Given the description of an element on the screen output the (x, y) to click on. 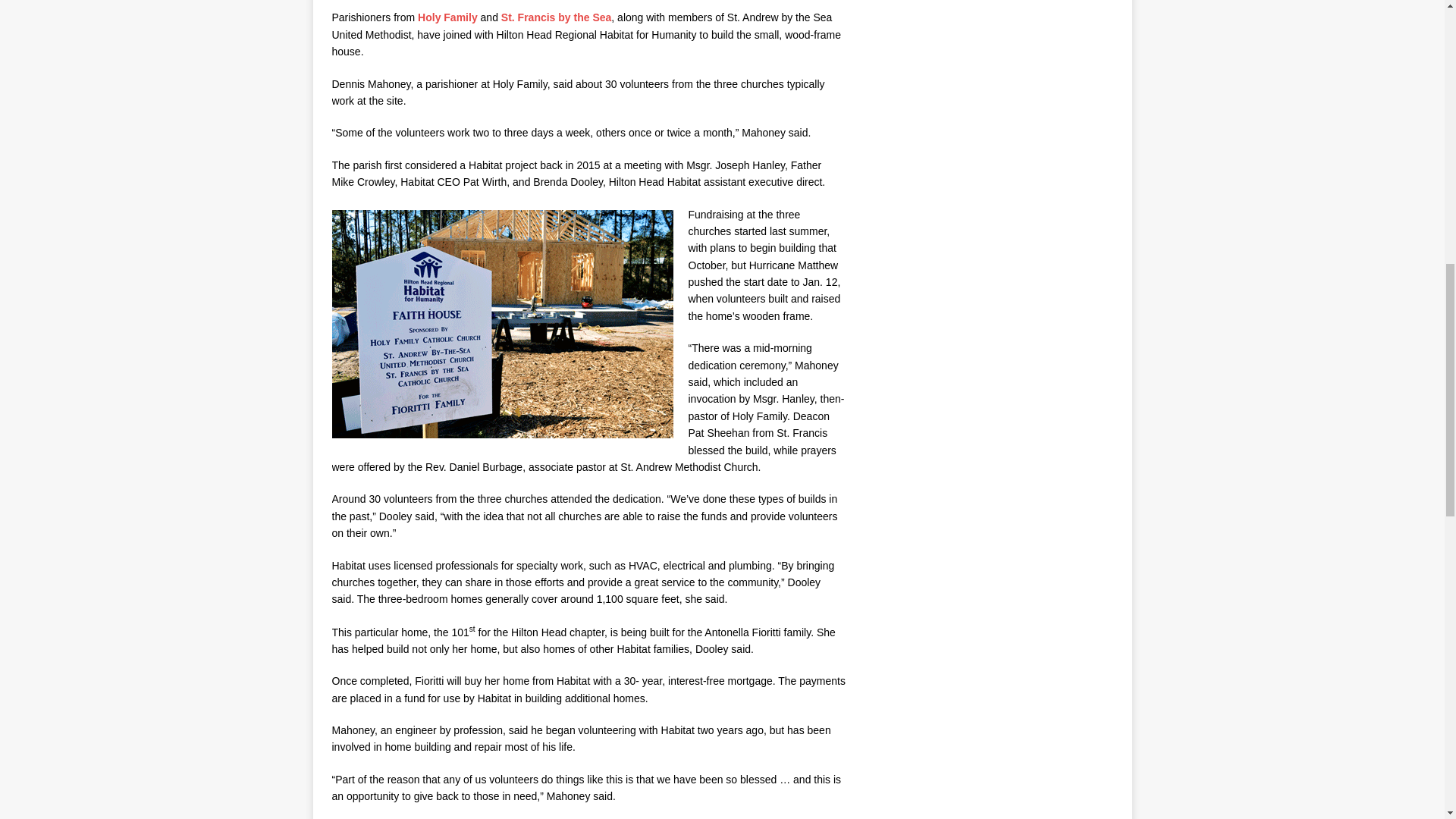
Holy Family (447, 17)
St. Francis by the Sea (555, 17)
